Given the description of an element on the screen output the (x, y) to click on. 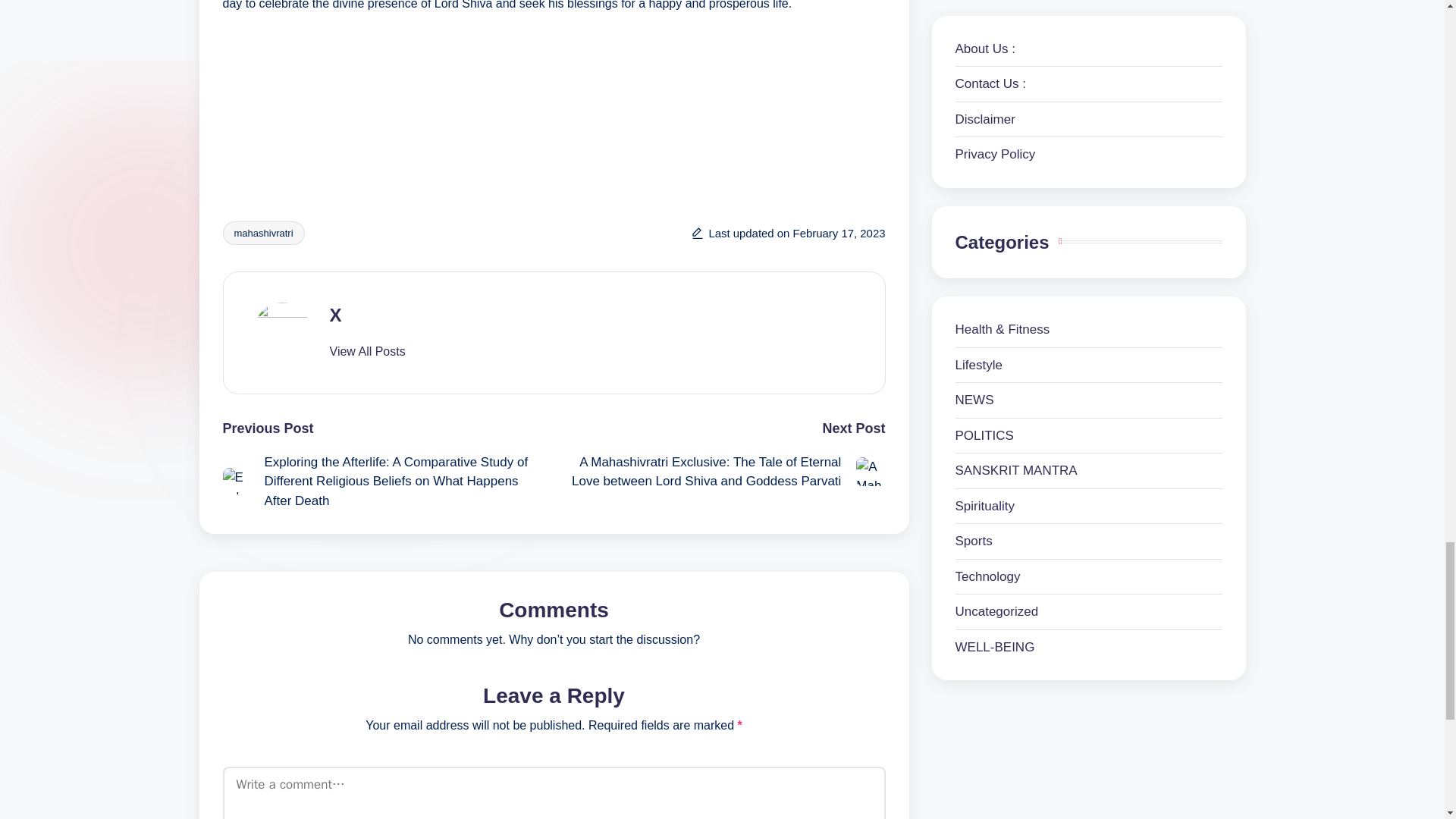
View All Posts (366, 351)
mahashivratri (263, 232)
